Given the description of an element on the screen output the (x, y) to click on. 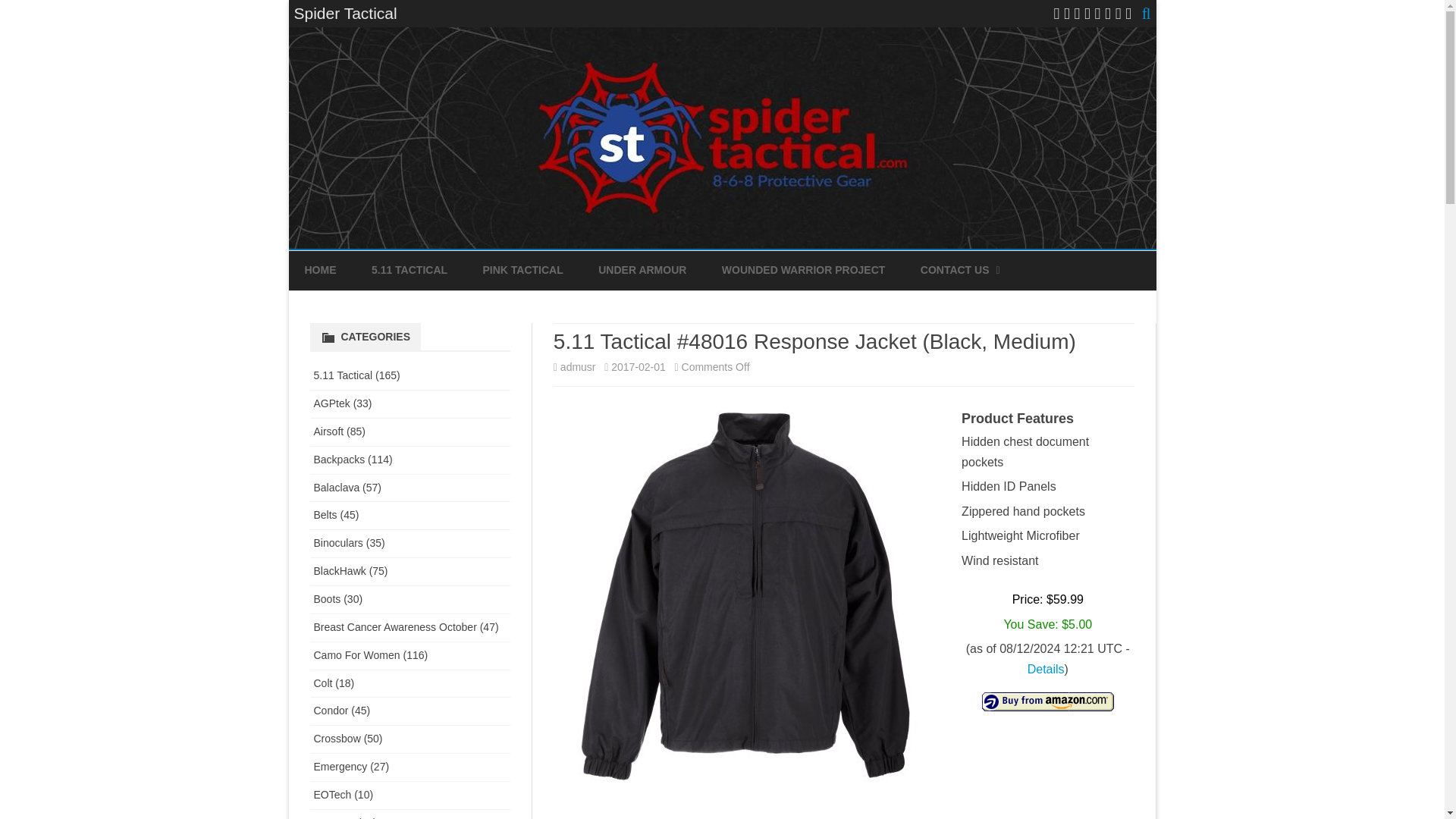
CONTACT US (955, 270)
5.11 TACTICAL (408, 270)
Details (1045, 668)
TOS DISCLOSURE (995, 305)
PINK TACTICAL (521, 270)
admusr (577, 367)
WOUNDED WARRIOR PROJECT (803, 270)
UNDER ARMOUR (641, 270)
